Given the description of an element on the screen output the (x, y) to click on. 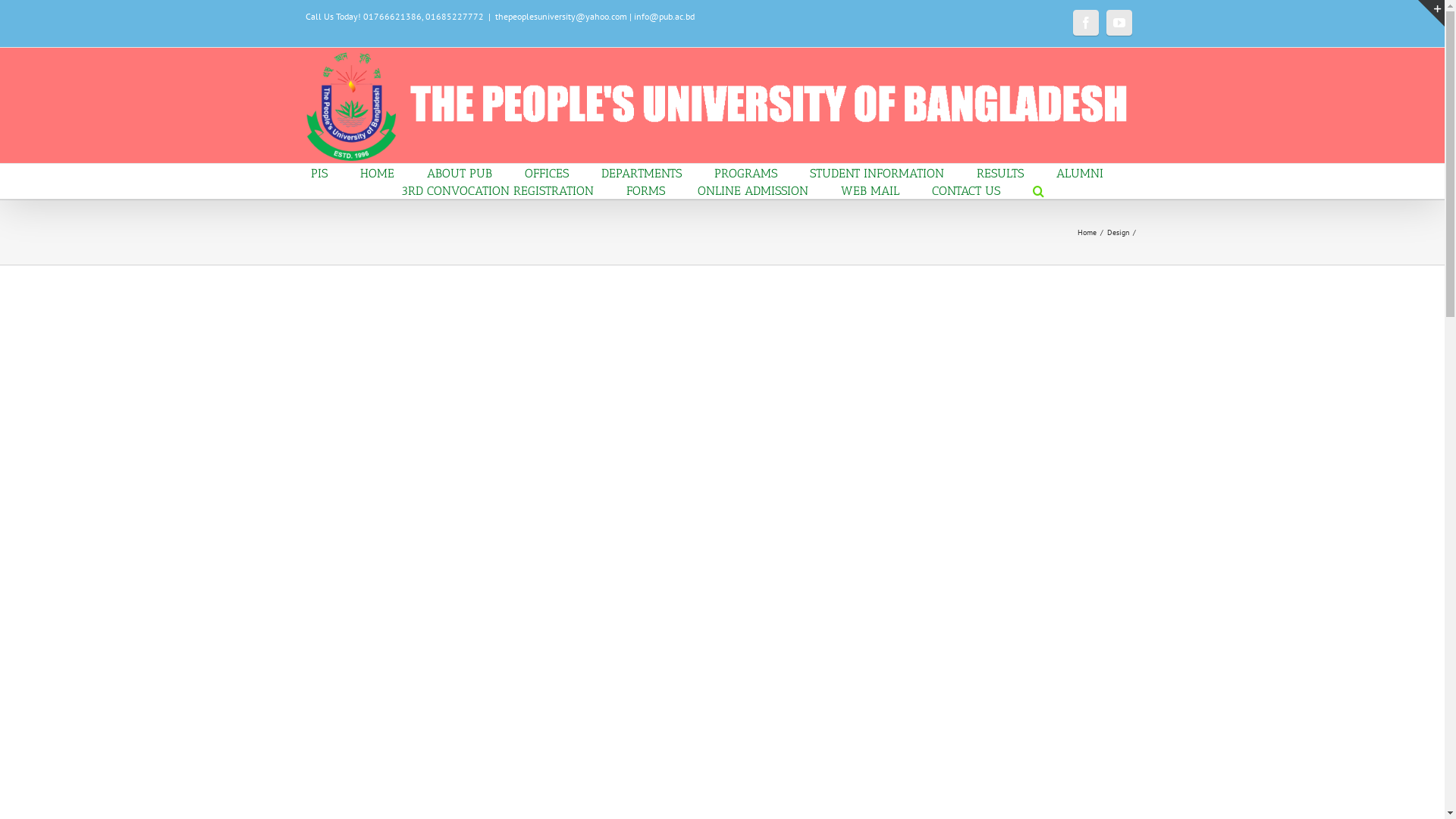
CONTACT US Element type: text (965, 189)
OFFICES Element type: text (546, 172)
FORMS Element type: text (645, 189)
WEB MAIL Element type: text (869, 189)
3RD CONVOCATION REGISTRATION Element type: text (496, 189)
HOME Element type: text (377, 172)
PROGRAMS Element type: text (745, 172)
thepeoplesuniversity@yahoo.com | info@pub.ac.bd Element type: text (593, 15)
Design Element type: text (1118, 232)
DEPARTMENTS Element type: text (641, 172)
RESULTS Element type: text (999, 172)
Youtube Element type: hover (1118, 22)
PIS Element type: text (318, 172)
Facebook Element type: hover (1085, 22)
ONLINE ADMISSION Element type: text (752, 189)
Home Element type: text (1085, 232)
ALUMNI Element type: text (1079, 172)
ABOUT PUB Element type: text (459, 172)
STUDENT INFORMATION Element type: text (876, 172)
